Given the description of an element on the screen output the (x, y) to click on. 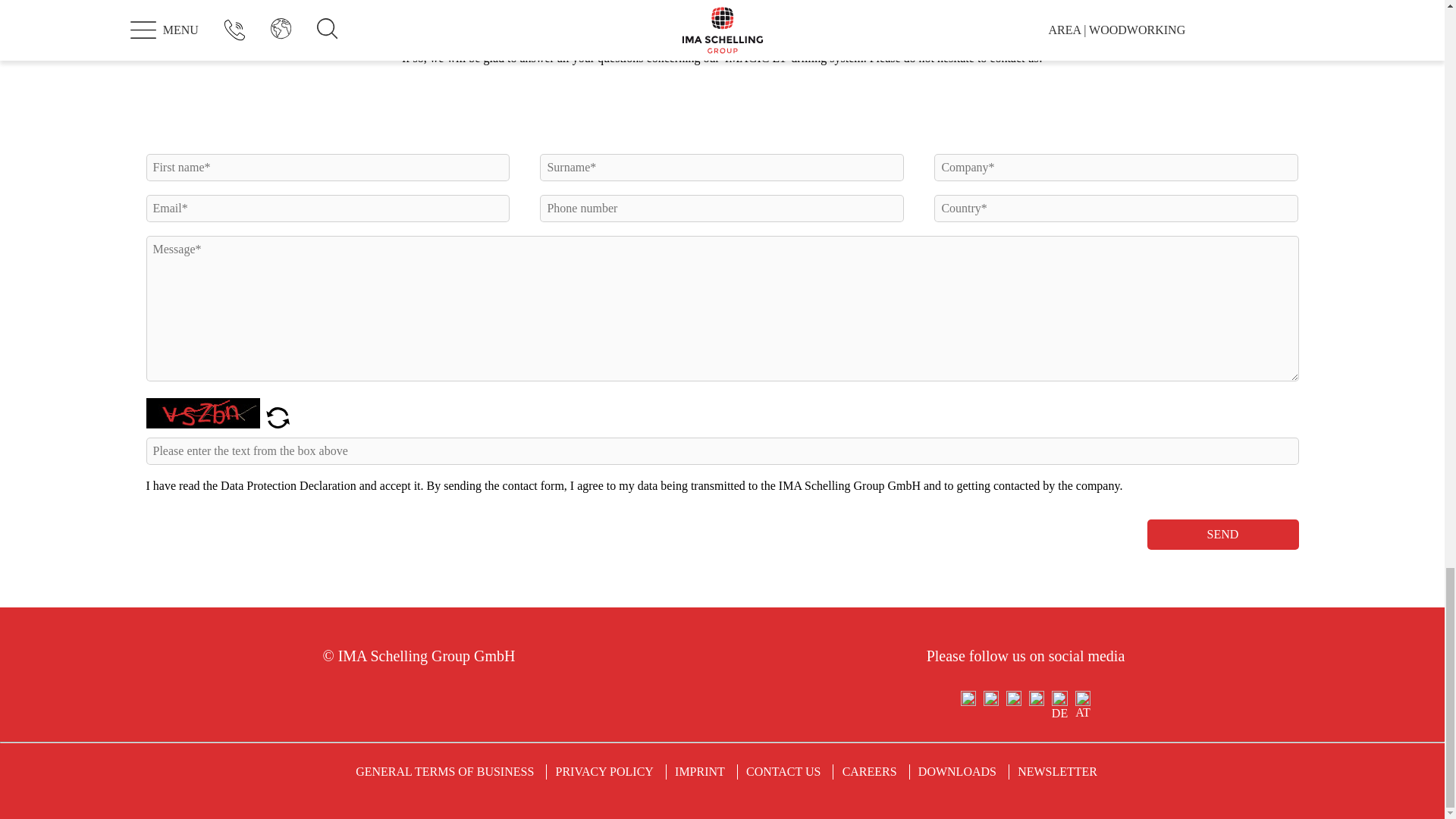
Contact us (783, 771)
General terms of business (444, 771)
Privacy Policy (603, 771)
Imprint (700, 771)
Careers (869, 771)
Downloads (956, 771)
